Given the description of an element on the screen output the (x, y) to click on. 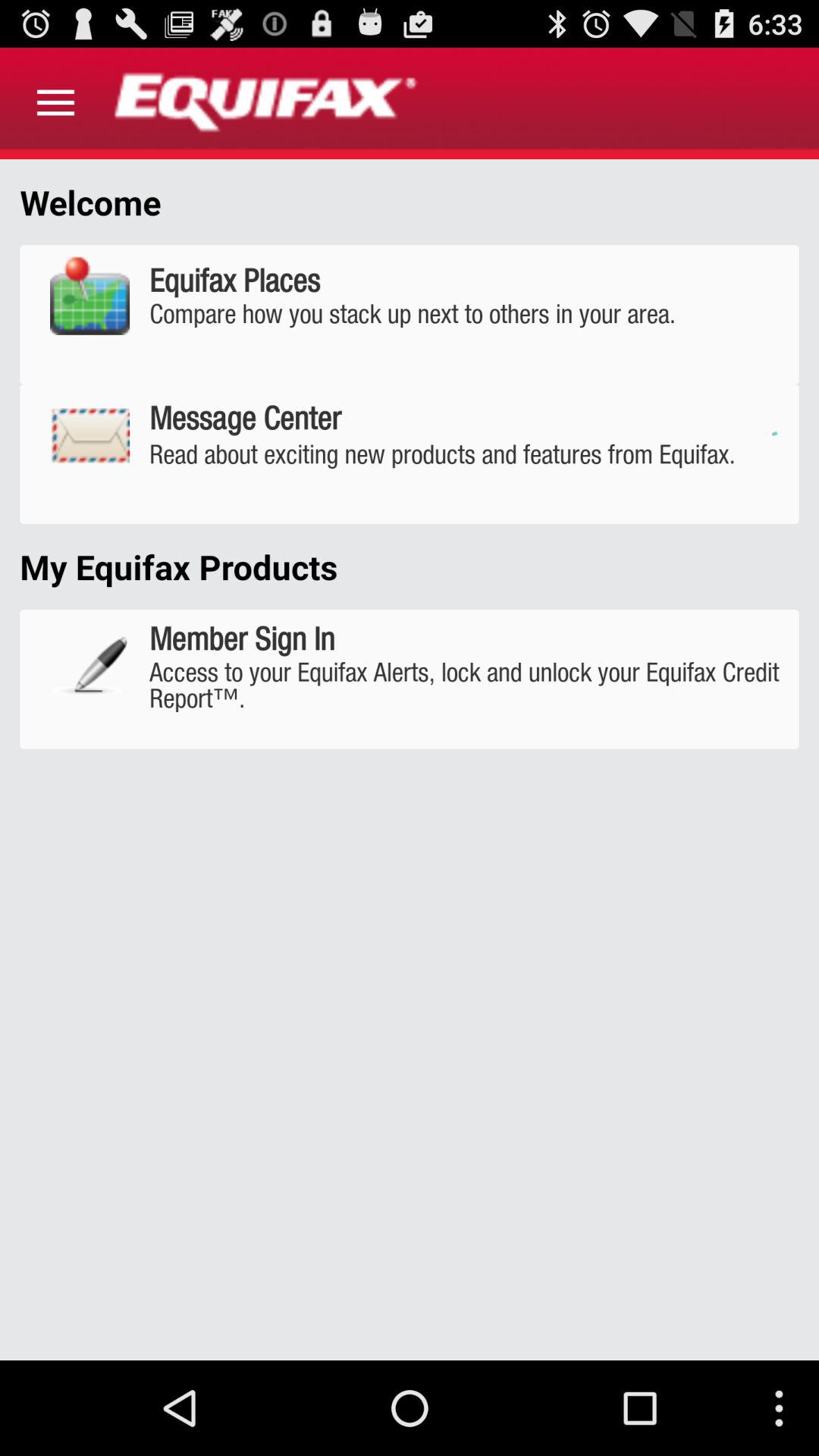
click on message center (409, 454)
click on the pen icon near the member sign in field (89, 666)
